Given the description of an element on the screen output the (x, y) to click on. 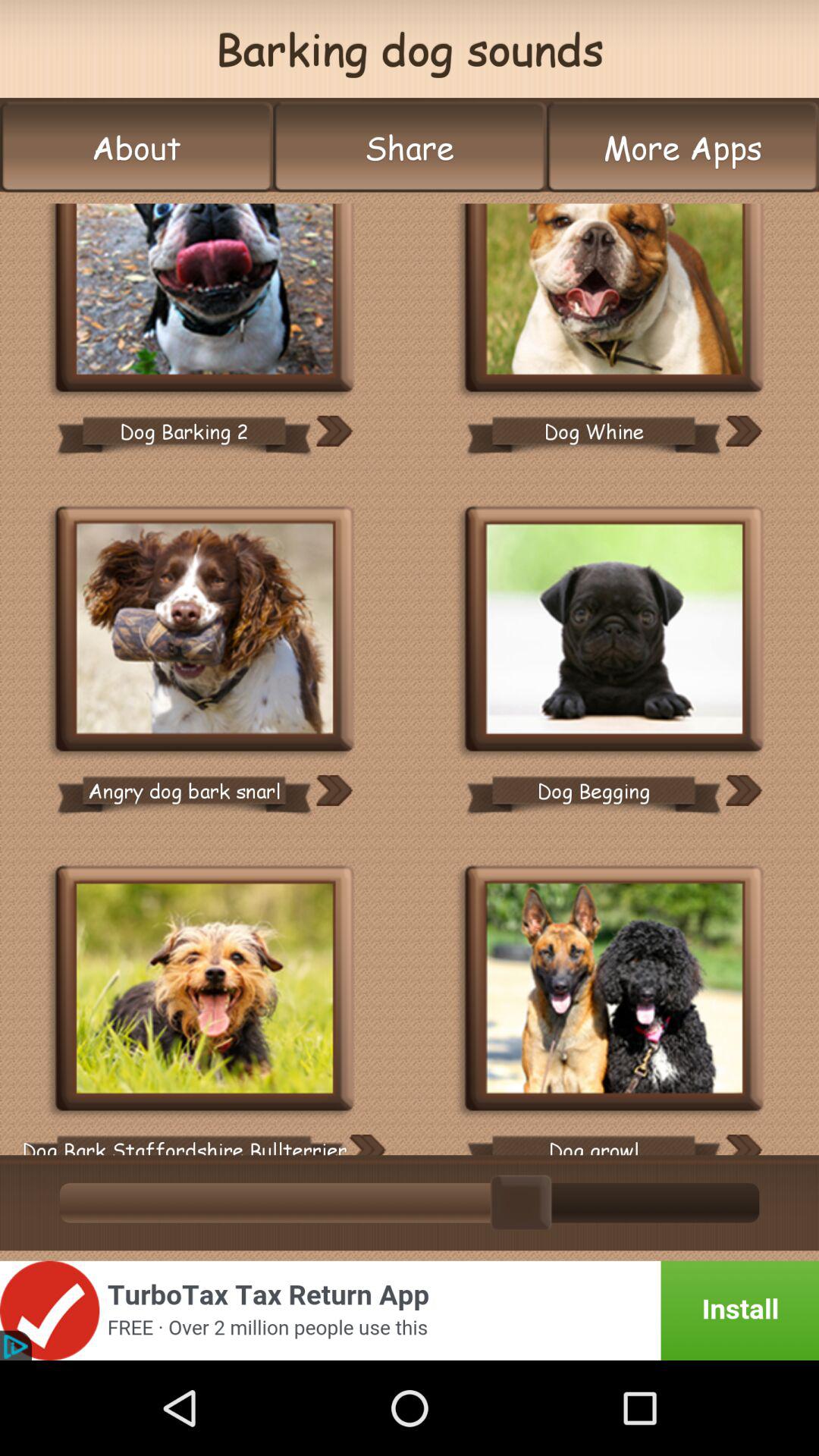
tap the icon next to the share item (682, 147)
